Given the description of an element on the screen output the (x, y) to click on. 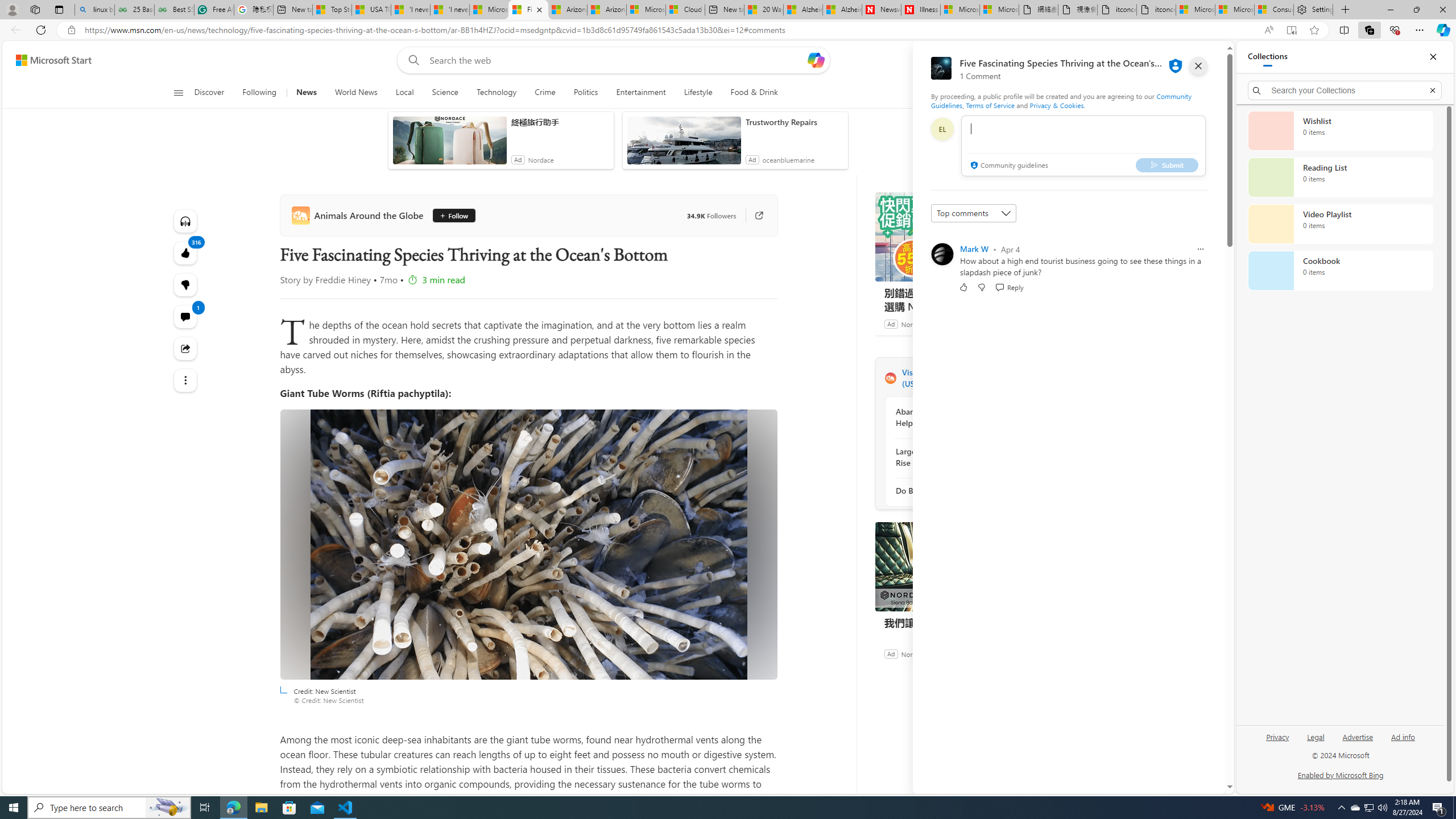
Skip to footer (46, 59)
Science (444, 92)
Credit: New Scientist (528, 544)
Open settings (1199, 60)
20 Ways to Boost Your Protein Intake at Every Meal (763, 9)
Privacy & Cookies (1056, 104)
Legal (1315, 741)
linux basic - Search (94, 9)
Cloud Computing Services | Microsoft Azure (685, 9)
Entertainment (641, 92)
Microsoft rewards (1154, 60)
